Given the description of an element on the screen output the (x, y) to click on. 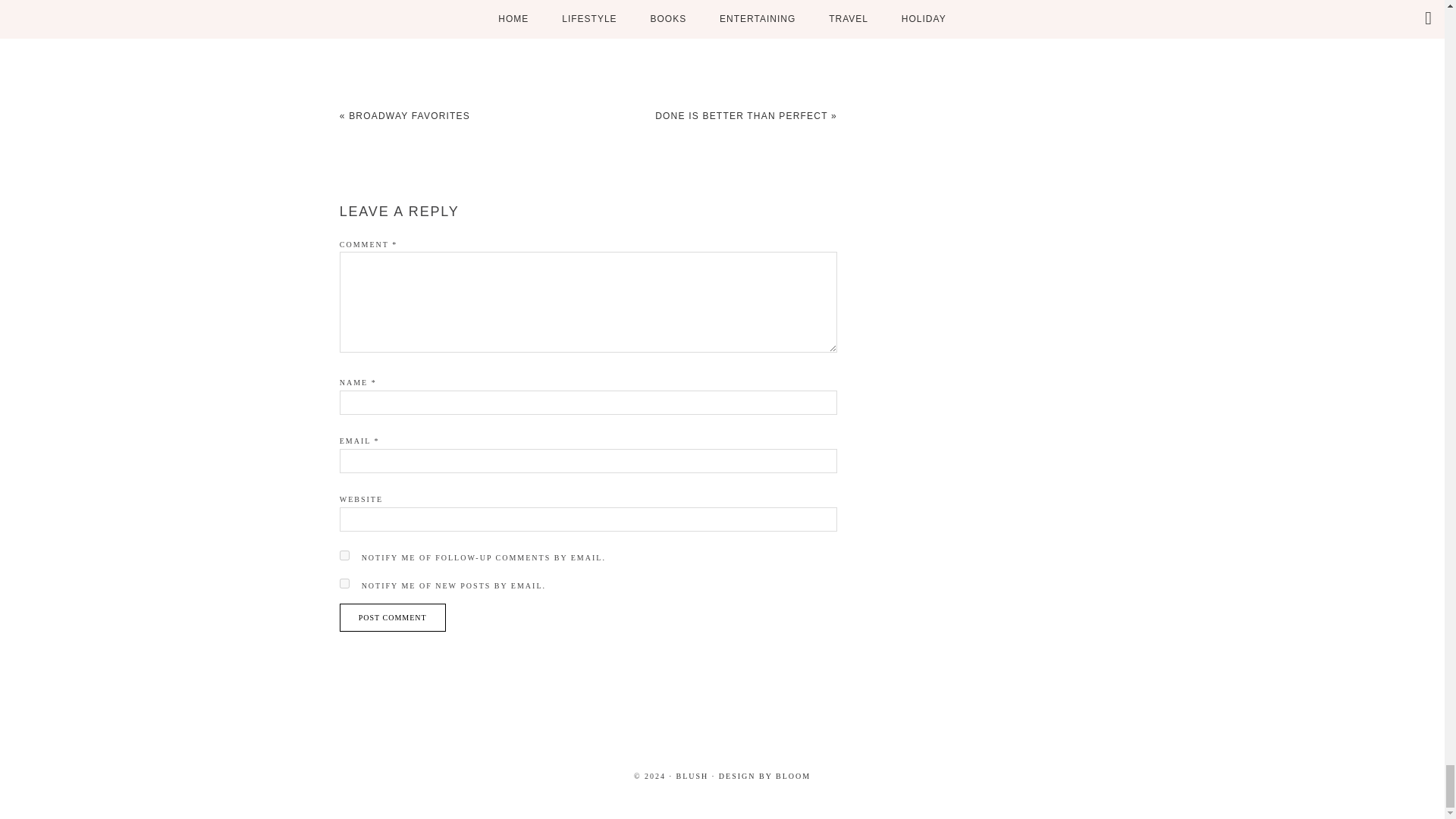
Post Comment (392, 617)
LEAVE A COMMENT (789, 17)
TRAVEL (701, 17)
subscribe (344, 555)
Post Comment (392, 617)
DESIGN BY BLOOM (764, 776)
BLUSH (693, 776)
subscribe (344, 583)
